Given the description of an element on the screen output the (x, y) to click on. 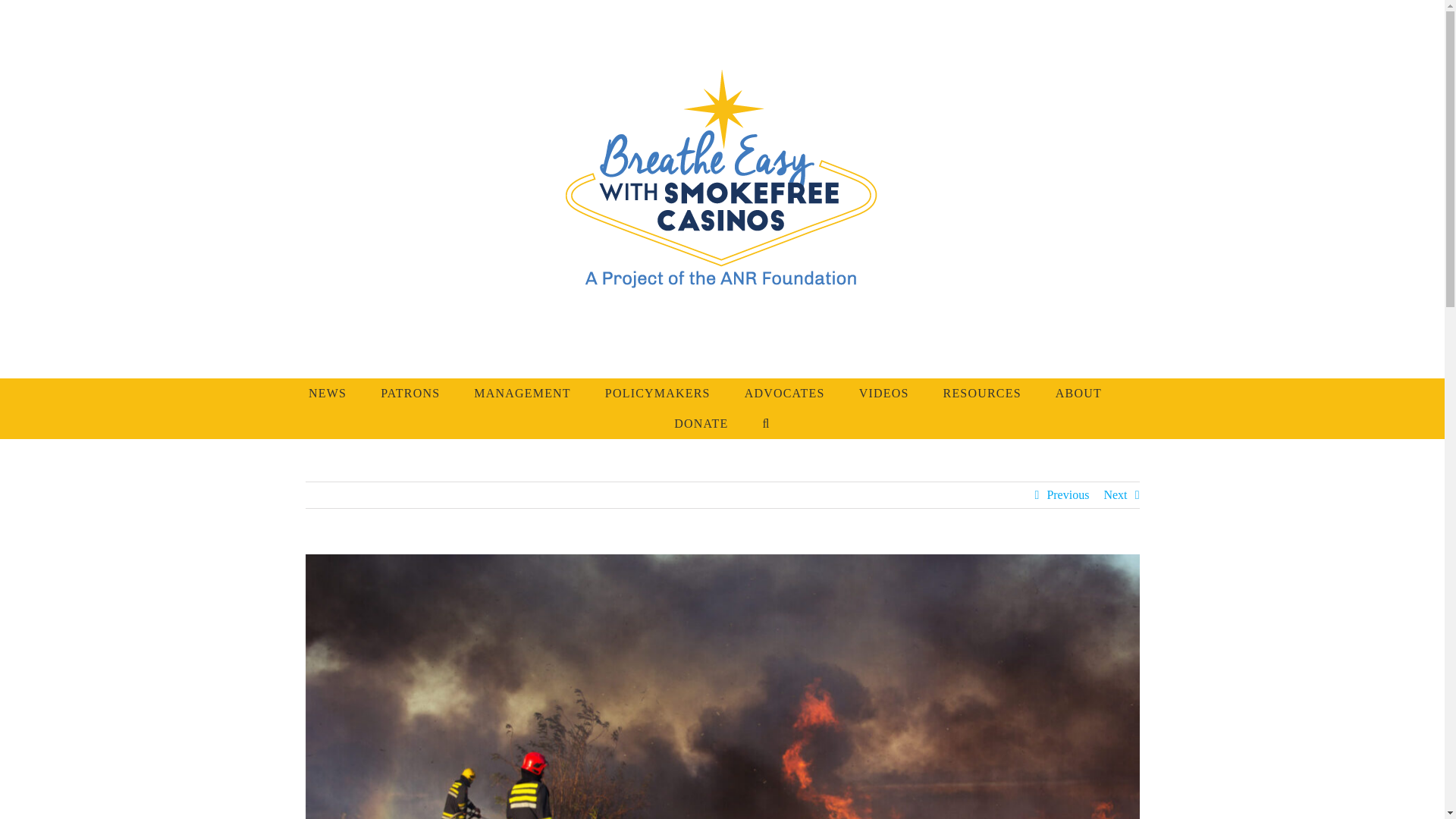
ABOUT (1078, 393)
PATRONS (409, 393)
VIDEOS (883, 393)
DONATE (701, 423)
RESOURCES (982, 393)
Next (1114, 494)
POLICYMAKERS (657, 393)
NEWS (327, 393)
Previous (1067, 494)
ADVOCATES (784, 393)
MANAGEMENT (522, 393)
